Given the description of an element on the screen output the (x, y) to click on. 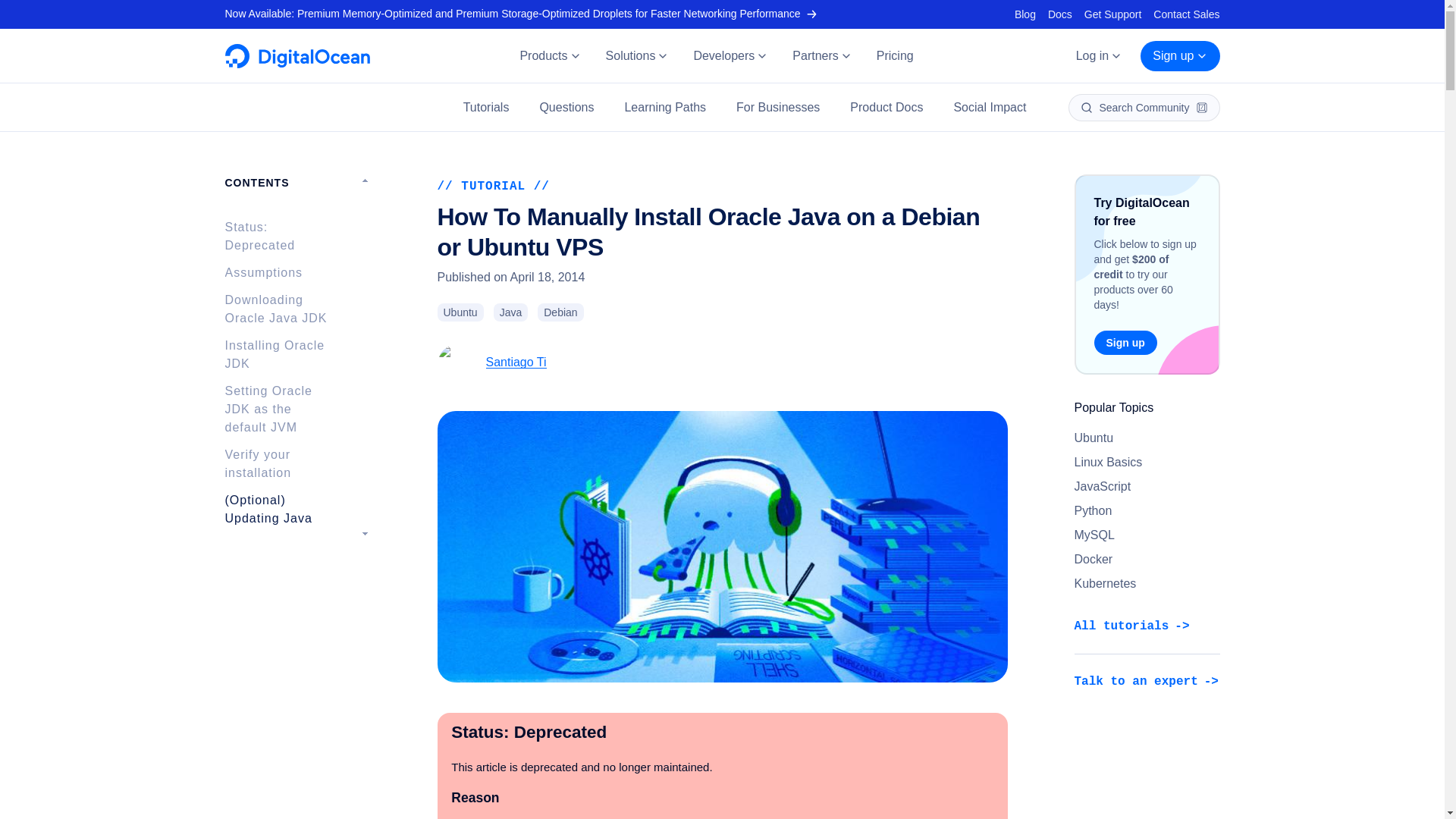
Java (510, 312)
DigitalOcean (296, 63)
Contact Sales (1186, 14)
Debian (560, 312)
Ubuntu (459, 312)
Docs (1059, 14)
Products (549, 55)
Blog (1024, 14)
Get Support (1112, 14)
